Given the description of an element on the screen output the (x, y) to click on. 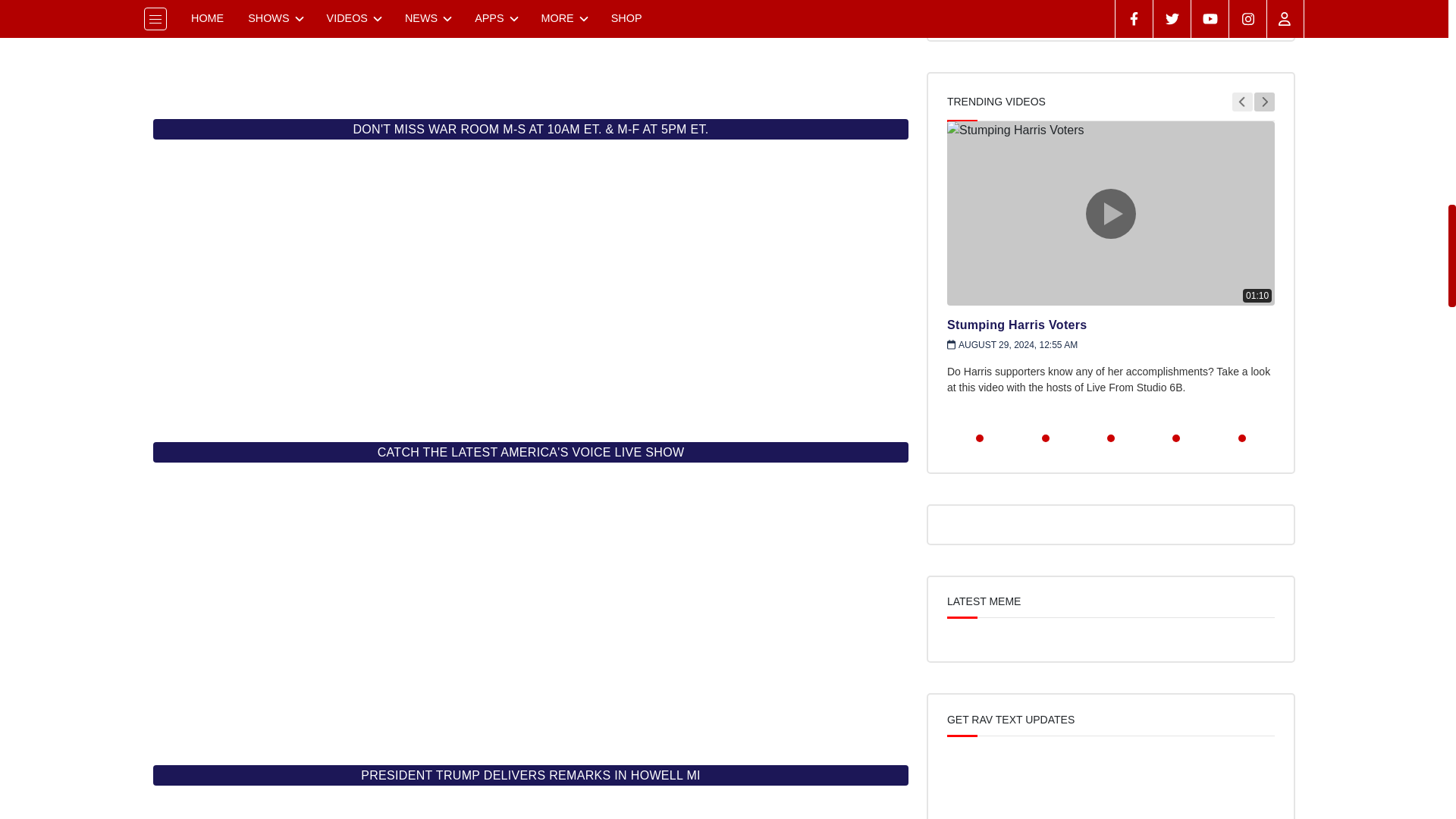
Widget iframe (530, 808)
Widget iframe (530, 50)
